Given the description of an element on the screen output the (x, y) to click on. 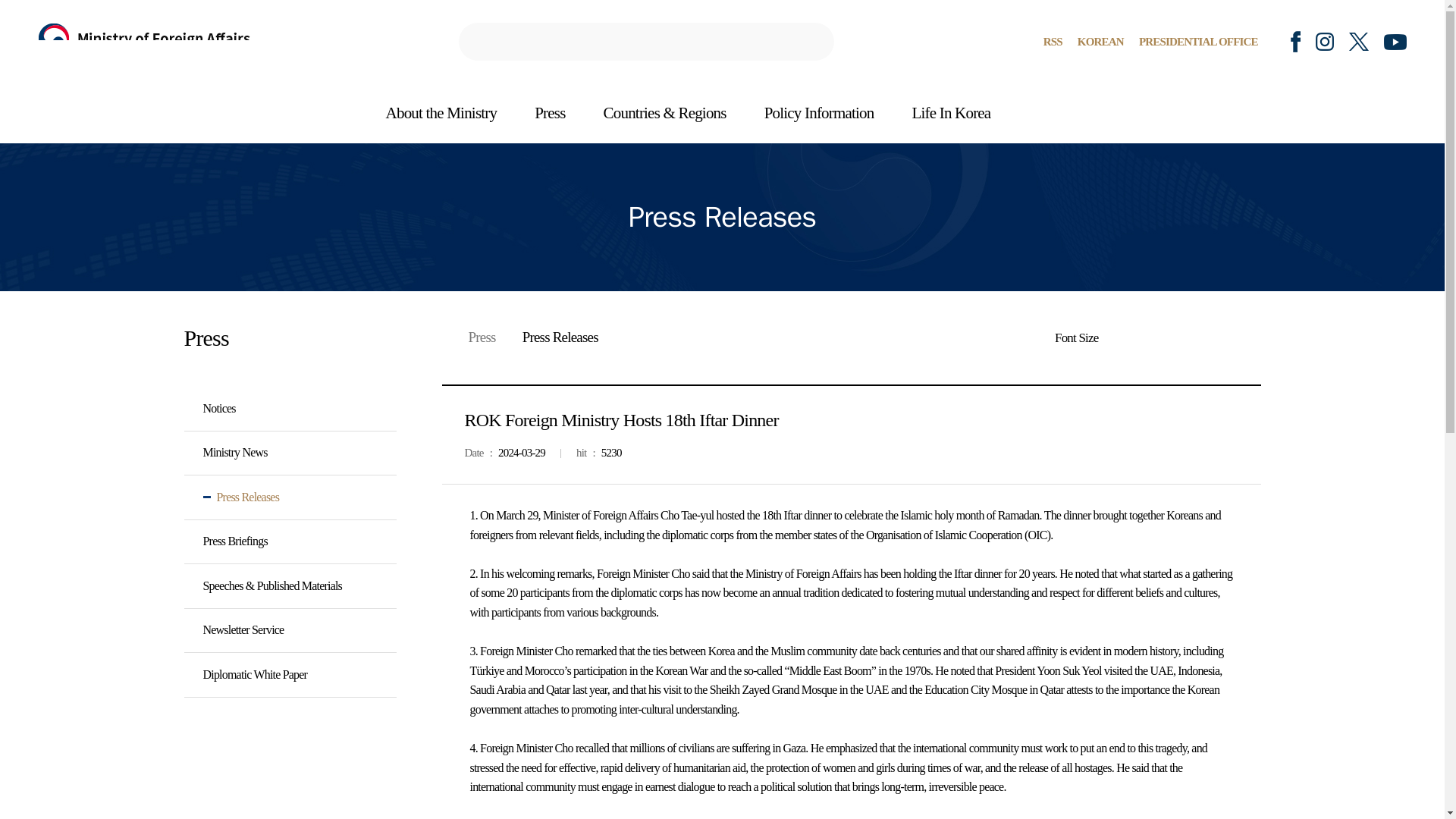
new window (1395, 41)
Press (549, 113)
RSS (1052, 41)
new window (1324, 41)
About the Ministry (441, 113)
new window (1358, 41)
search (646, 41)
PRESIDENTIAL OFFICE (1197, 41)
KOREAN (1100, 41)
